Given the description of an element on the screen output the (x, y) to click on. 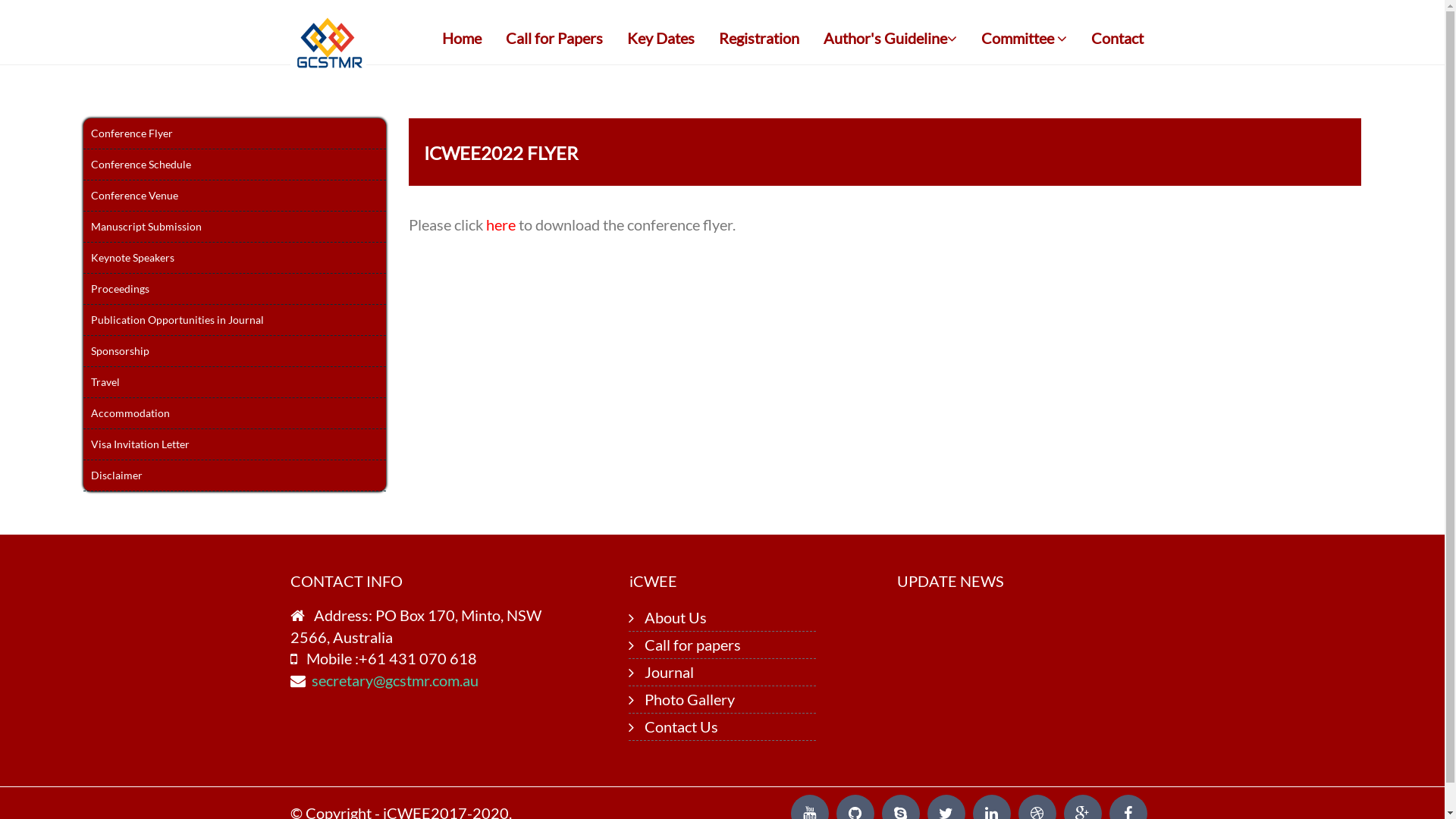
Call for papers Element type: text (692, 644)
Conference Flyer Element type: text (234, 133)
here Element type: text (502, 224)
Key Dates Element type: text (660, 37)
Manuscript Submission Element type: text (234, 226)
Publication Opportunities in Journal Element type: text (234, 319)
secretary@gcstmr.com.au Element type: text (393, 680)
Travel Element type: text (234, 382)
Registration Element type: text (757, 37)
Conference Schedule Element type: text (234, 164)
Disclaimer Element type: text (234, 475)
Call for Papers Element type: text (554, 37)
Committee Element type: text (1023, 37)
Proceedings Element type: text (234, 288)
Visa Invitation Letter Element type: text (234, 444)
Contact Element type: text (1116, 37)
Photo Gallery Element type: text (689, 699)
Home Element type: text (461, 37)
Keynote Speakers Element type: text (234, 257)
Accommodation Element type: text (234, 413)
Author's Guideline Element type: text (889, 37)
Sponsorship Element type: text (234, 351)
About Us Element type: text (675, 617)
Contact Us Element type: text (681, 726)
Journal Element type: text (668, 671)
Conference Venue Element type: text (234, 195)
